Given the description of an element on the screen output the (x, y) to click on. 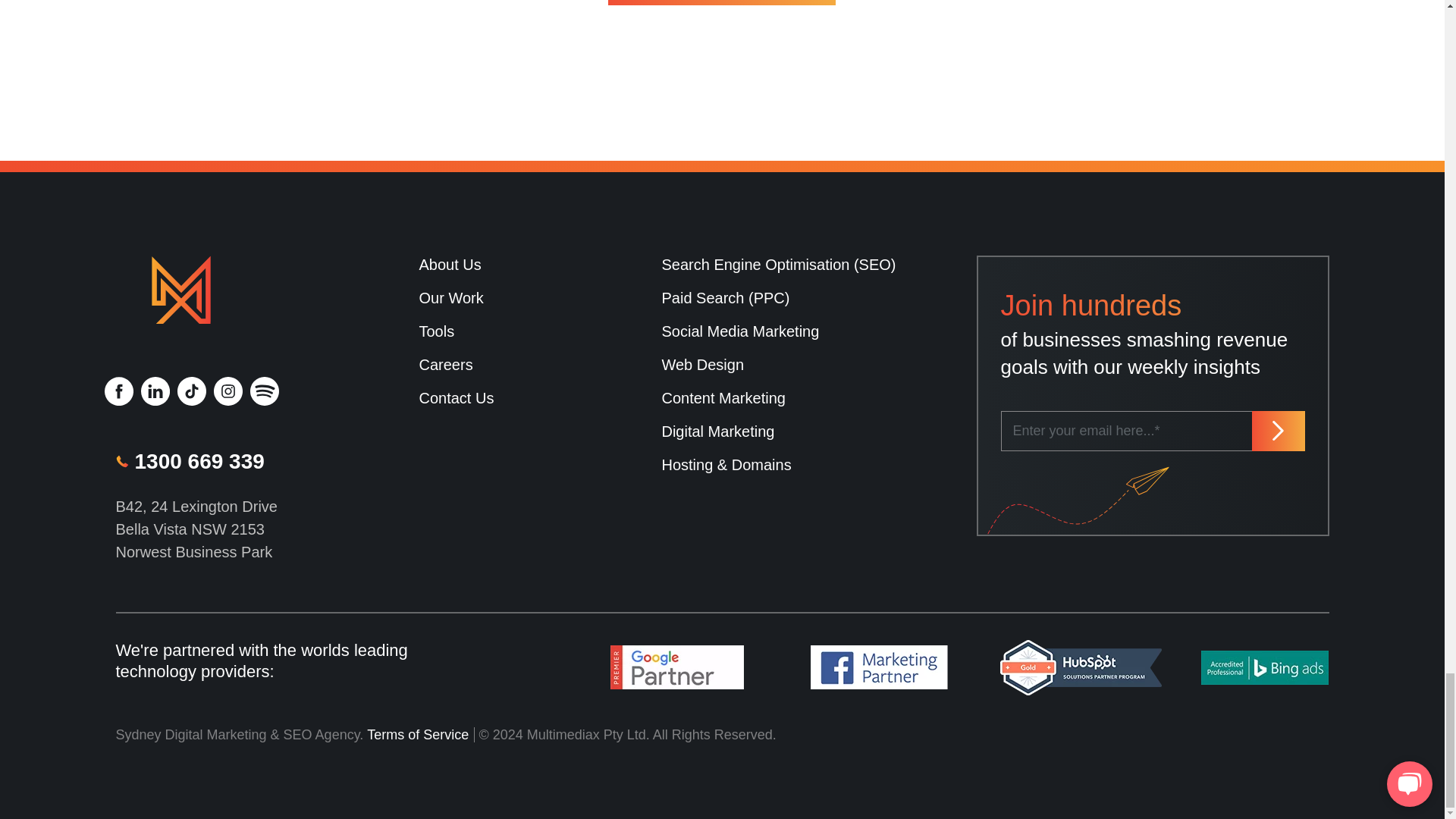
Submit (1277, 431)
